Given the description of an element on the screen output the (x, y) to click on. 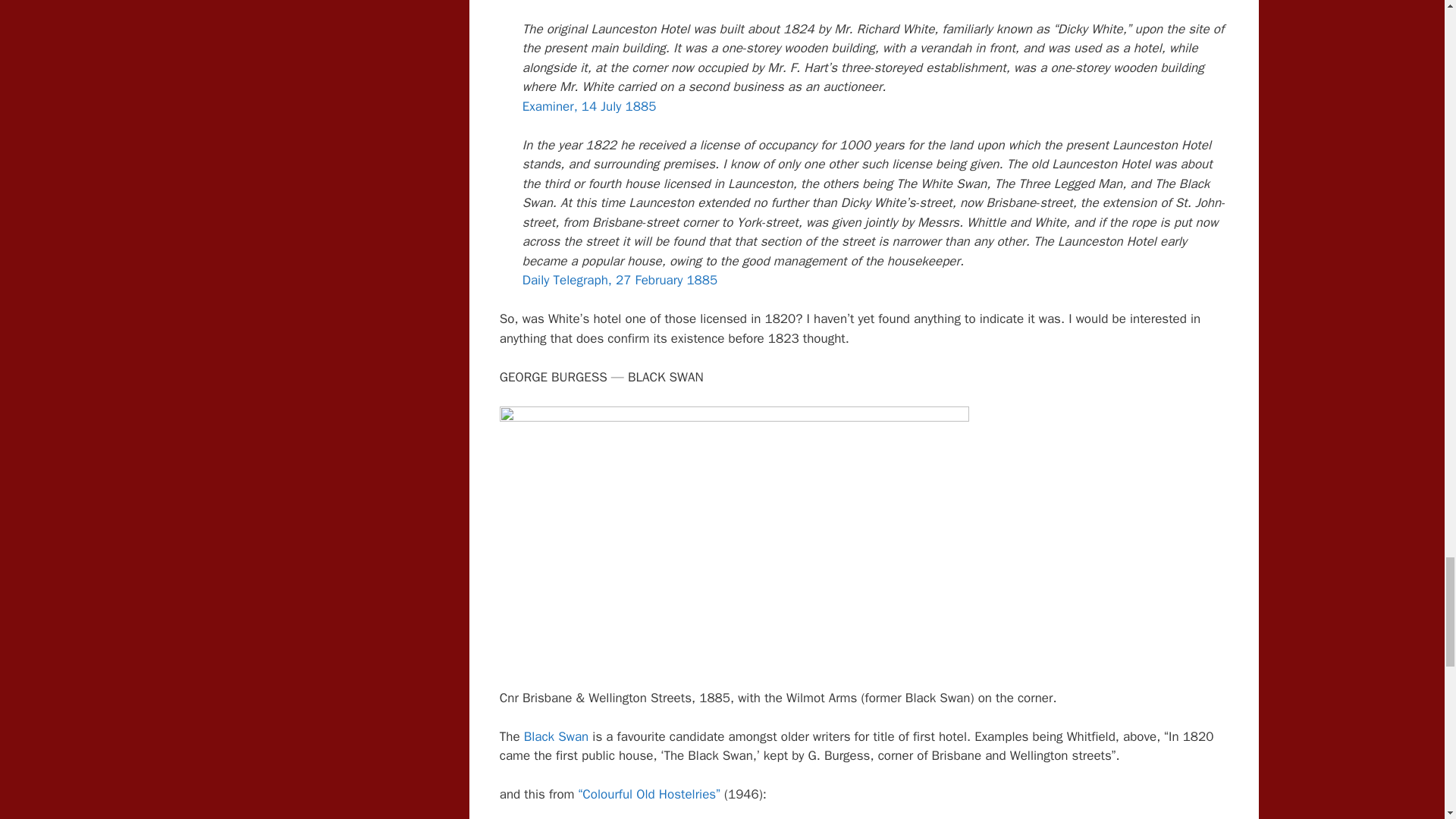
Daily Telegraph, 27 February 1885 (619, 279)
Examiner, 14 July 1885 (589, 106)
Black Swan (556, 736)
